Given the description of an element on the screen output the (x, y) to click on. 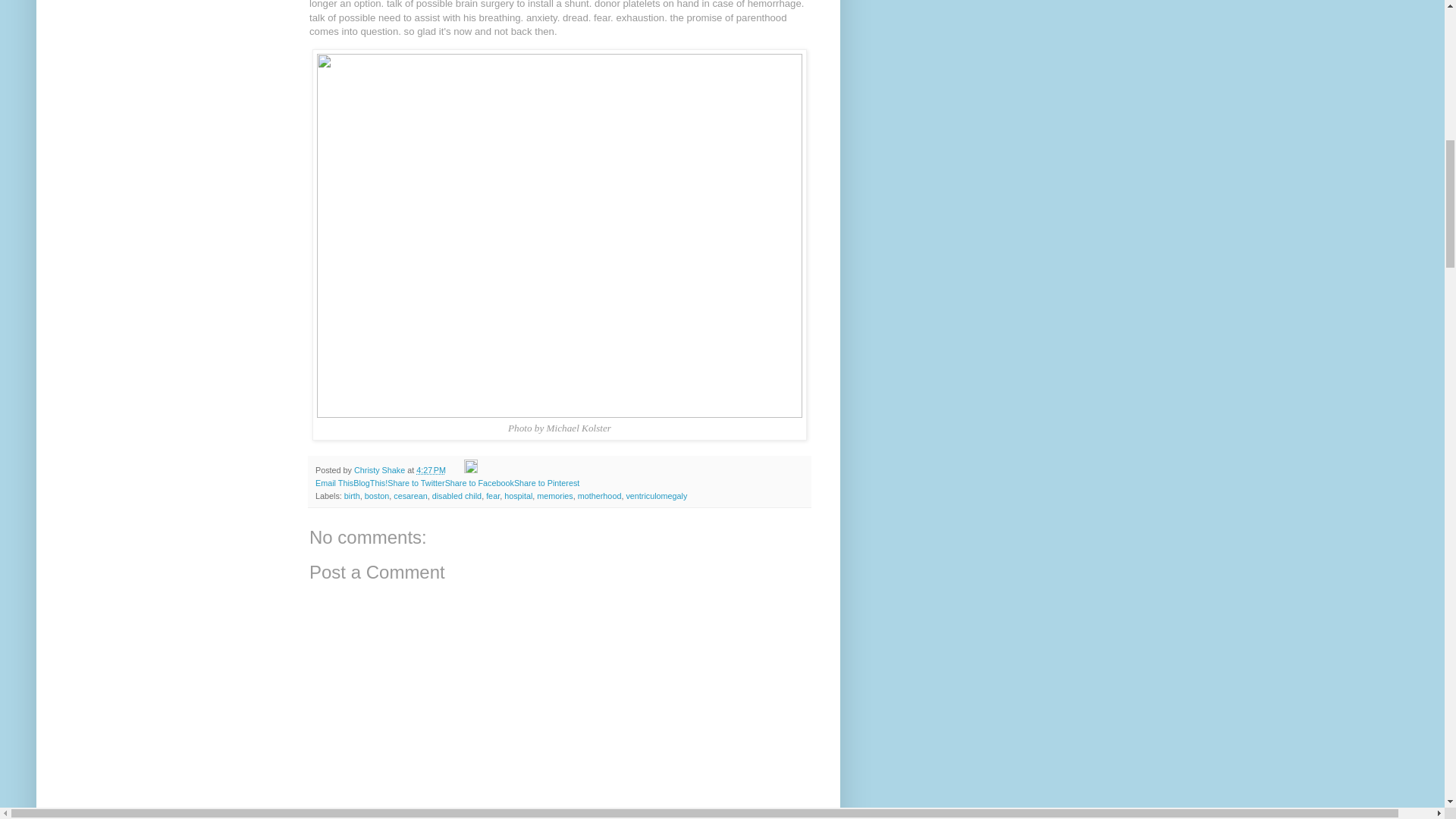
Share to Facebook (479, 482)
Email Post (456, 470)
BlogThis! (370, 482)
Share to Pinterest (546, 482)
author profile (380, 470)
disabled child (456, 495)
fear (492, 495)
Share to Twitter (415, 482)
motherhood (599, 495)
Email This (334, 482)
Email This (334, 482)
Edit Post (470, 470)
Share to Pinterest (546, 482)
BlogThis! (370, 482)
